Given the description of an element on the screen output the (x, y) to click on. 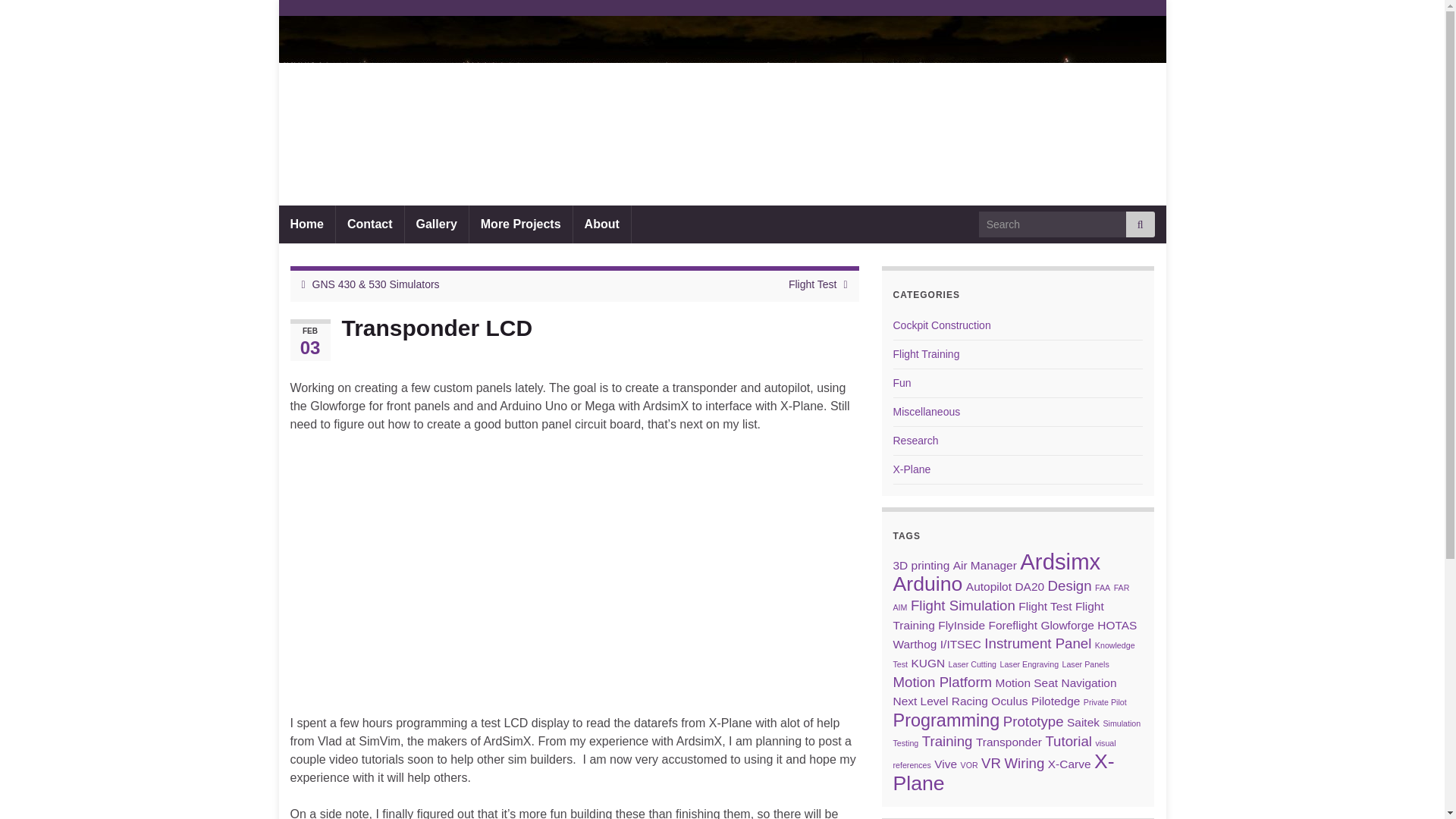
KUGN (927, 662)
Home (306, 224)
Ardsimx (1060, 561)
About (601, 224)
Gallery (436, 224)
FAA (1101, 587)
Air Manager (984, 564)
Contact (370, 224)
Cockpit Construction (942, 325)
Flight Simulation (962, 605)
X-Plane (912, 469)
Flight Training (926, 354)
More Projects (520, 224)
Arduino (927, 583)
